Given the description of an element on the screen output the (x, y) to click on. 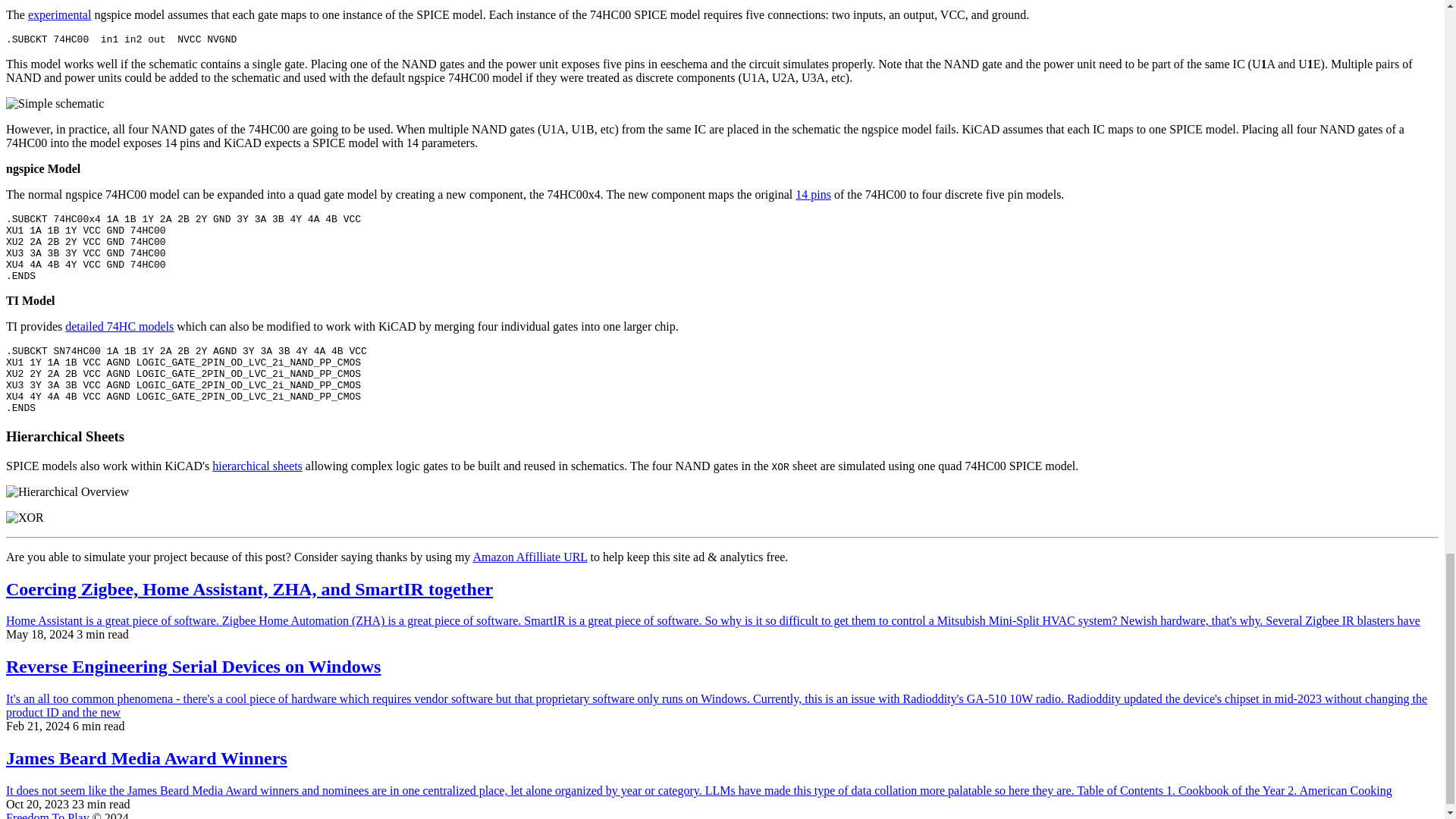
Amazon Affilliate URL (528, 556)
14 pins (812, 194)
hierarchical sheets (257, 465)
experimental (59, 14)
detailed 74HC models (119, 326)
